Given the description of an element on the screen output the (x, y) to click on. 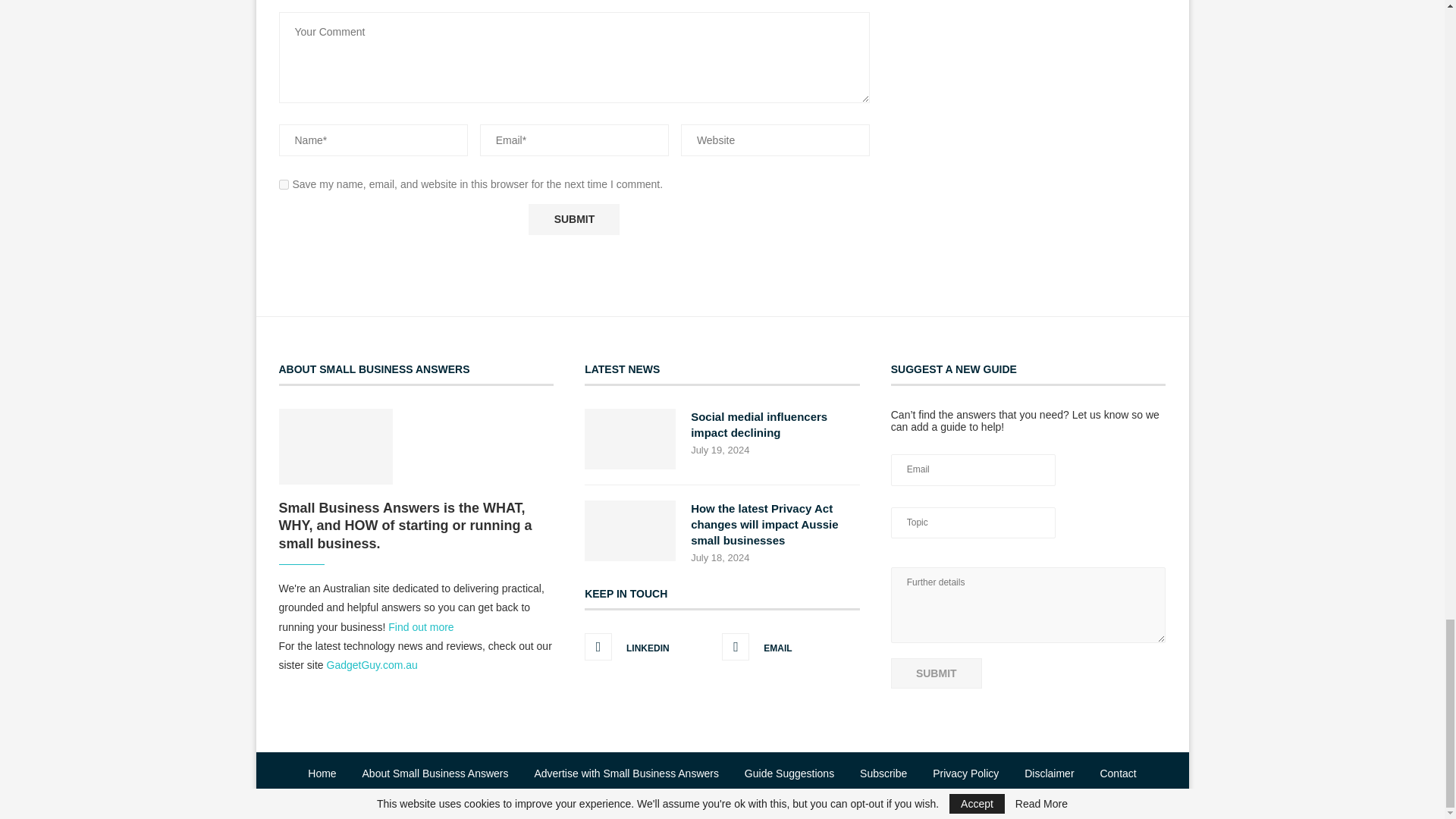
Submit (574, 219)
yes (283, 184)
